Given the description of an element on the screen output the (x, y) to click on. 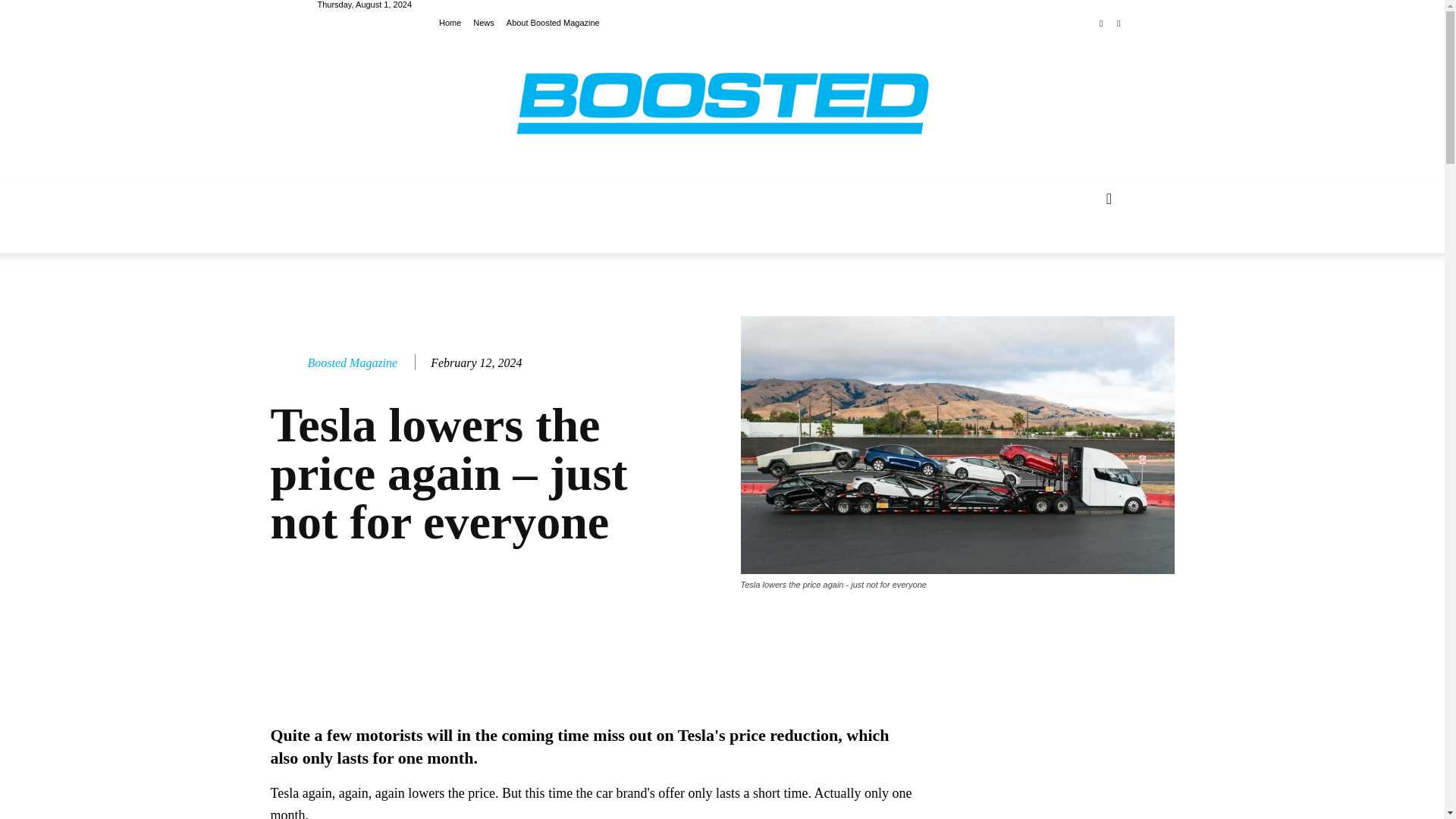
News (484, 22)
Instagram (1117, 23)
About Boosted Magazine (552, 22)
Home (450, 22)
Boosted Magazine (286, 363)
Facebook (1101, 23)
Boosted Magazine (352, 362)
